Given the description of an element on the screen output the (x, y) to click on. 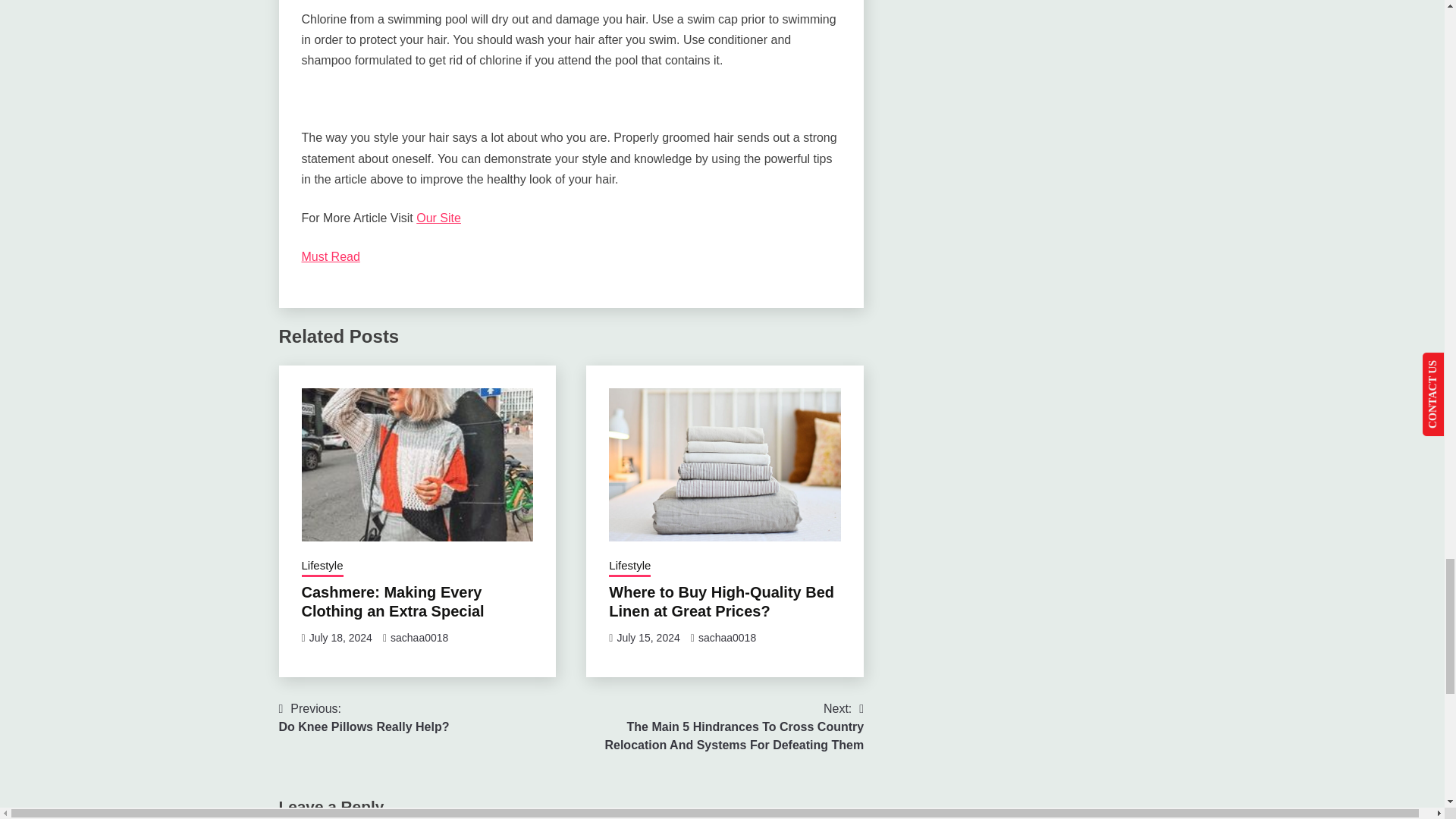
Lifestyle (629, 567)
Our Site (438, 217)
Must Read (330, 256)
July 15, 2024 (647, 637)
sachaa0018 (419, 637)
July 18, 2024 (364, 718)
sachaa0018 (340, 637)
Where to Buy High-Quality Bed Linen at Great Prices? (726, 637)
